Given the description of an element on the screen output the (x, y) to click on. 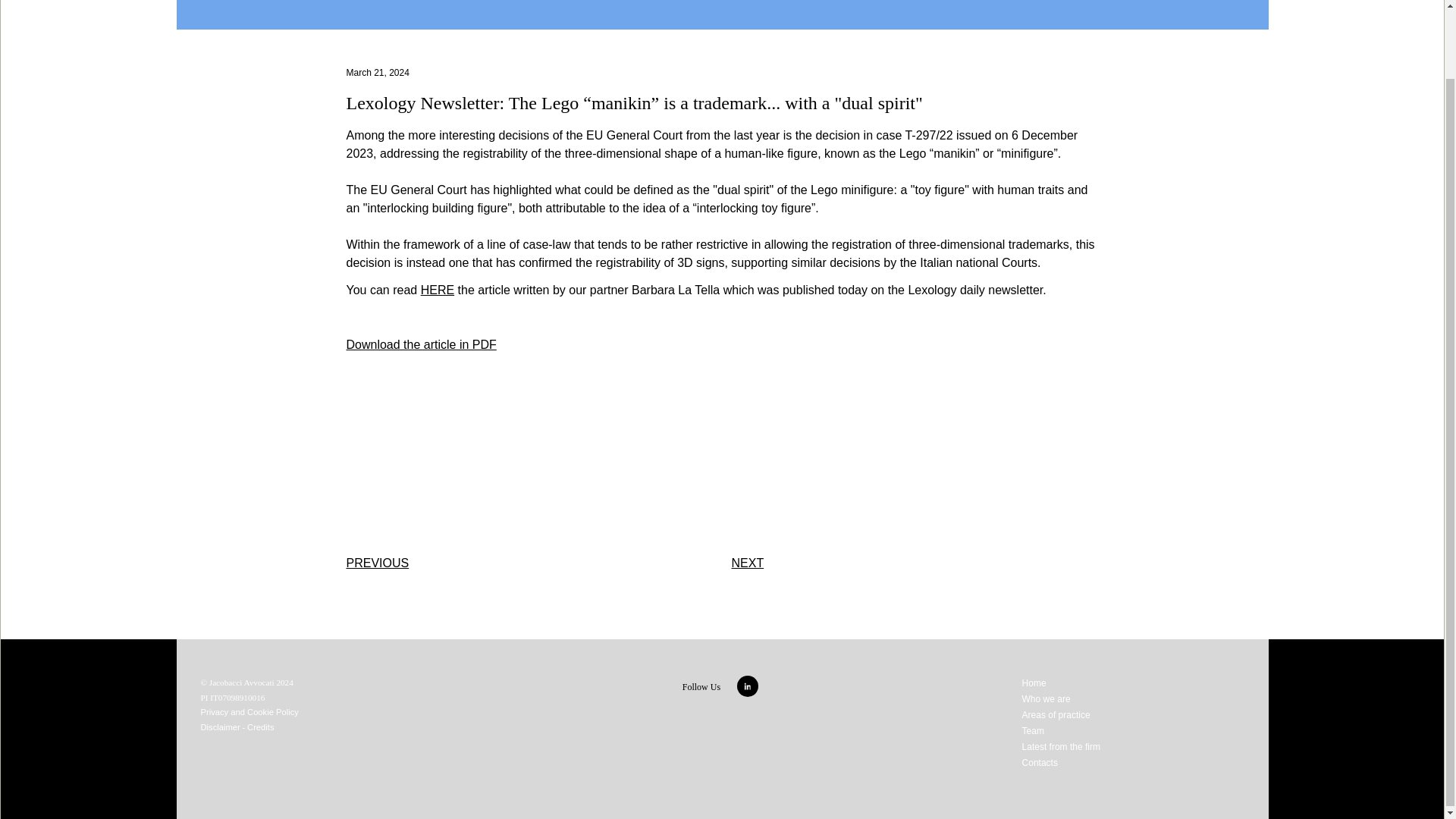
Credits (260, 727)
Who we are (1046, 698)
Privacy and Cookie Policy (249, 711)
Download the article in PDF (421, 344)
Contacts (1040, 762)
Disclaimer (220, 727)
HERE (437, 289)
Barbara La Tella (675, 289)
Home (1034, 683)
Team (1032, 730)
Areas of practice (1056, 715)
Latest from the firm (1061, 747)
NEXT (746, 563)
PREVIOUS (377, 563)
